Given the description of an element on the screen output the (x, y) to click on. 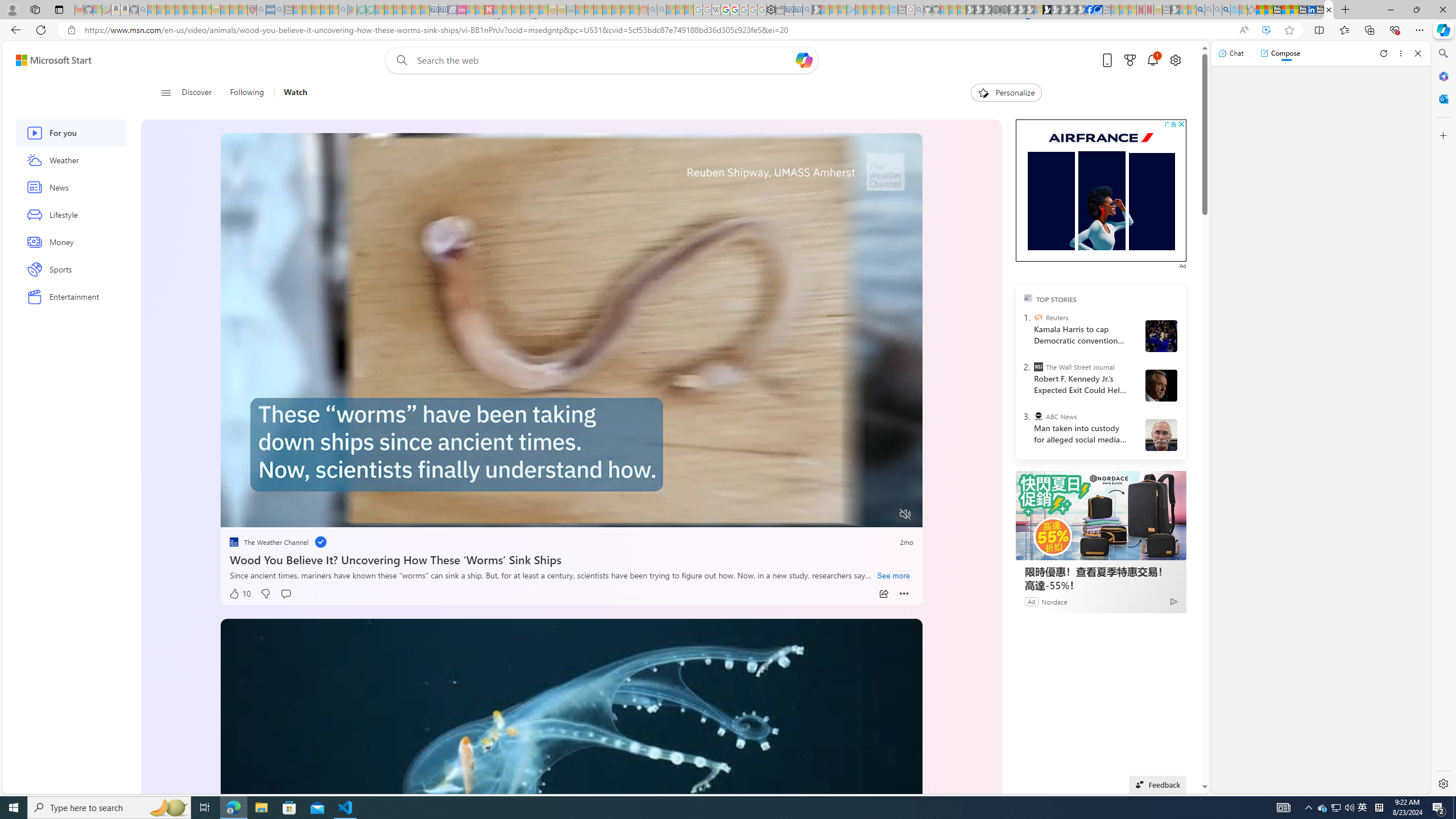
AQI & Health | AirNow.gov (1098, 9)
Wallet - Sleeping (779, 9)
Pause (236, 514)
Future Focus Report 2024 - Sleeping (1004, 9)
Recipes - MSN - Sleeping (224, 9)
Favorites - Sleeping (1251, 9)
Captions (861, 514)
